Given the description of an element on the screen output the (x, y) to click on. 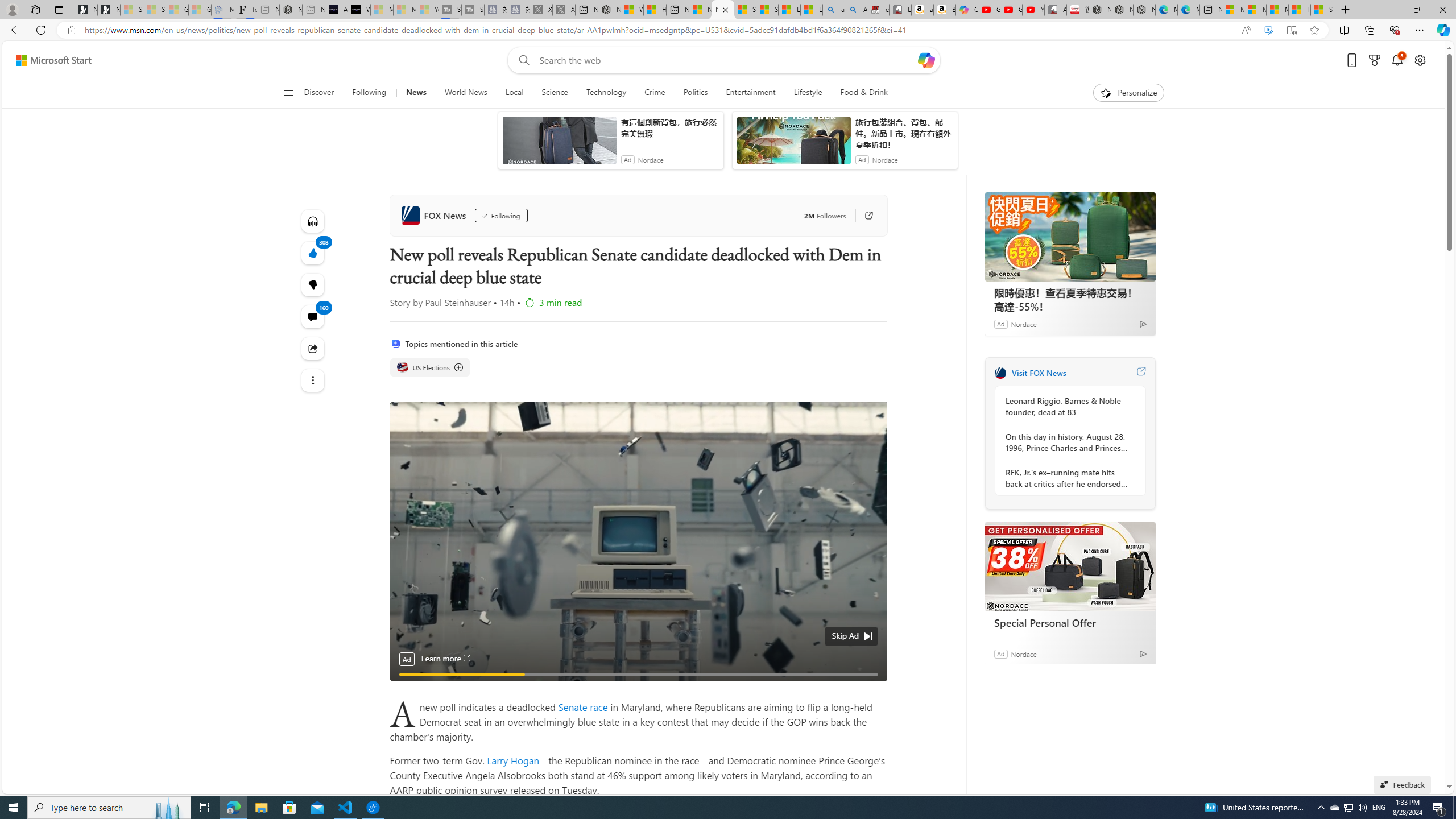
US Elections (401, 367)
Listen to this article (312, 220)
Share this story (312, 348)
Enhance video (1268, 29)
Open navigation menu (287, 92)
Amazon Echo Dot PNG - Search Images (856, 9)
Microsoft rewards (1374, 60)
Food & Drink (859, 92)
Open settings (1420, 60)
Enter Immersive Reader (F9) (1291, 29)
